Given the description of an element on the screen output the (x, y) to click on. 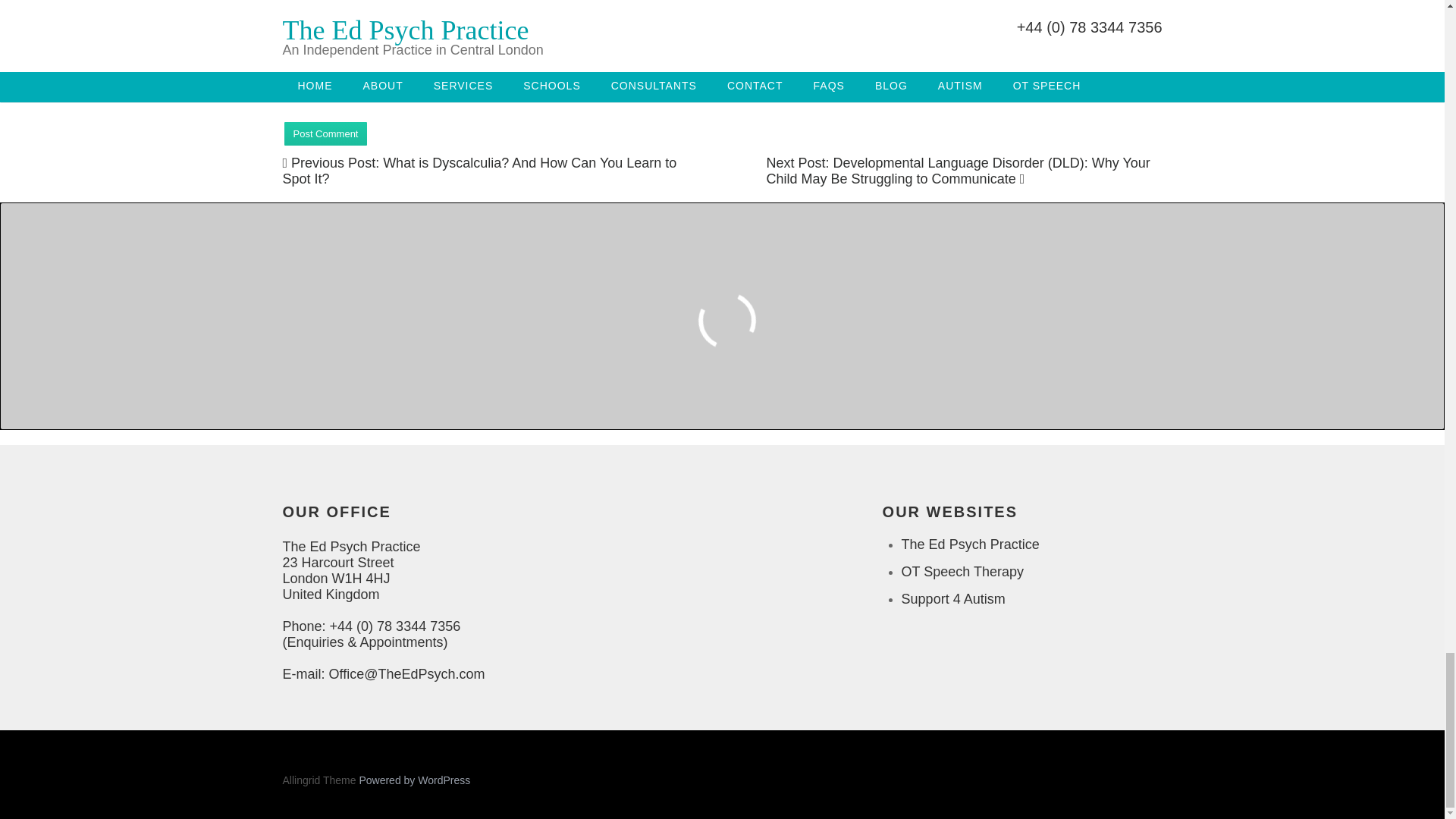
Allingrid Theme (320, 779)
Post Comment (324, 133)
Post Comment (324, 133)
yes (291, 86)
